Given the description of an element on the screen output the (x, y) to click on. 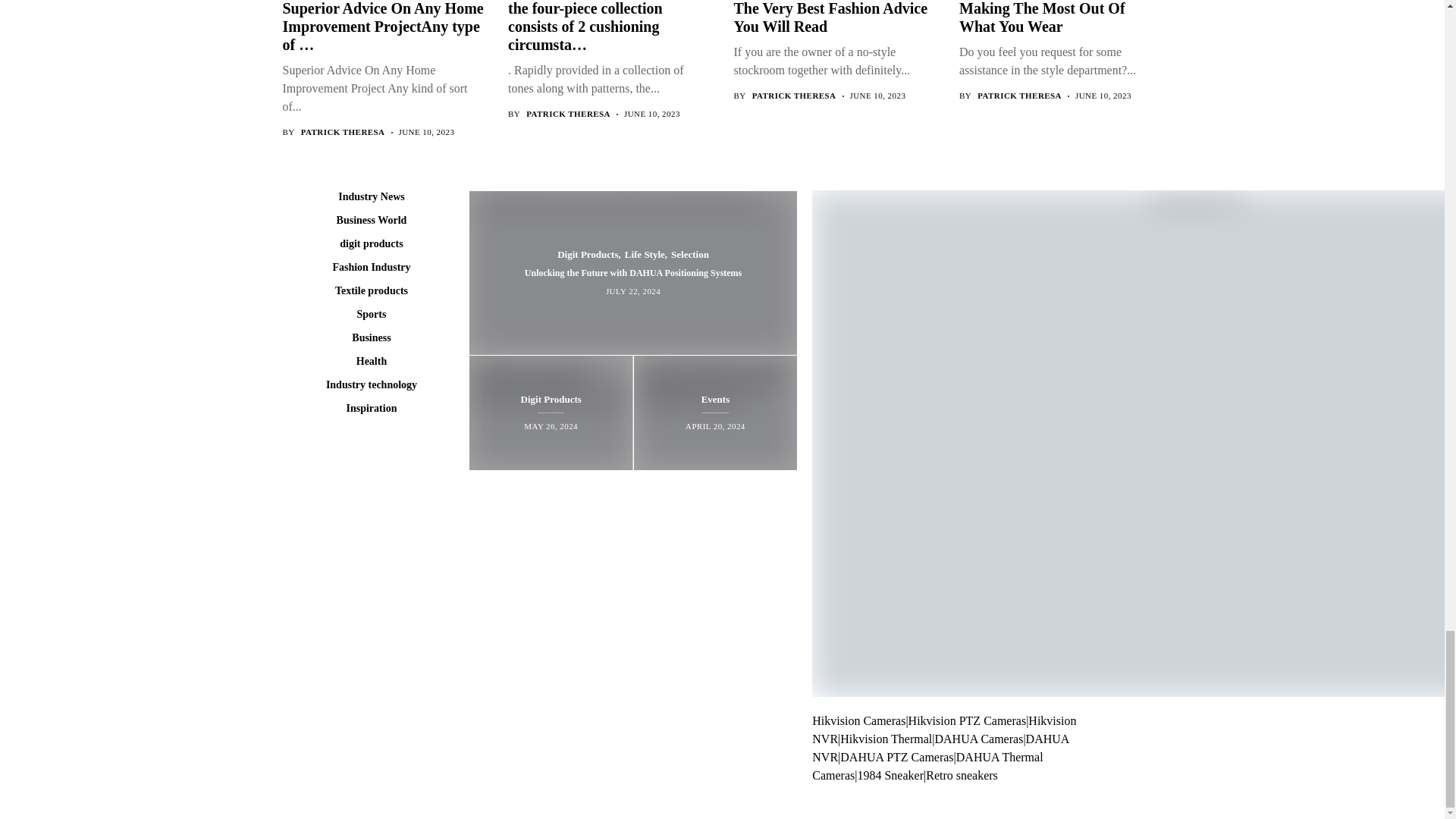
Posts by Patrick Theresa (1018, 95)
Posts by Patrick Theresa (793, 95)
Posts by Patrick Theresa (567, 113)
Posts by Patrick Theresa (343, 132)
